Given the description of an element on the screen output the (x, y) to click on. 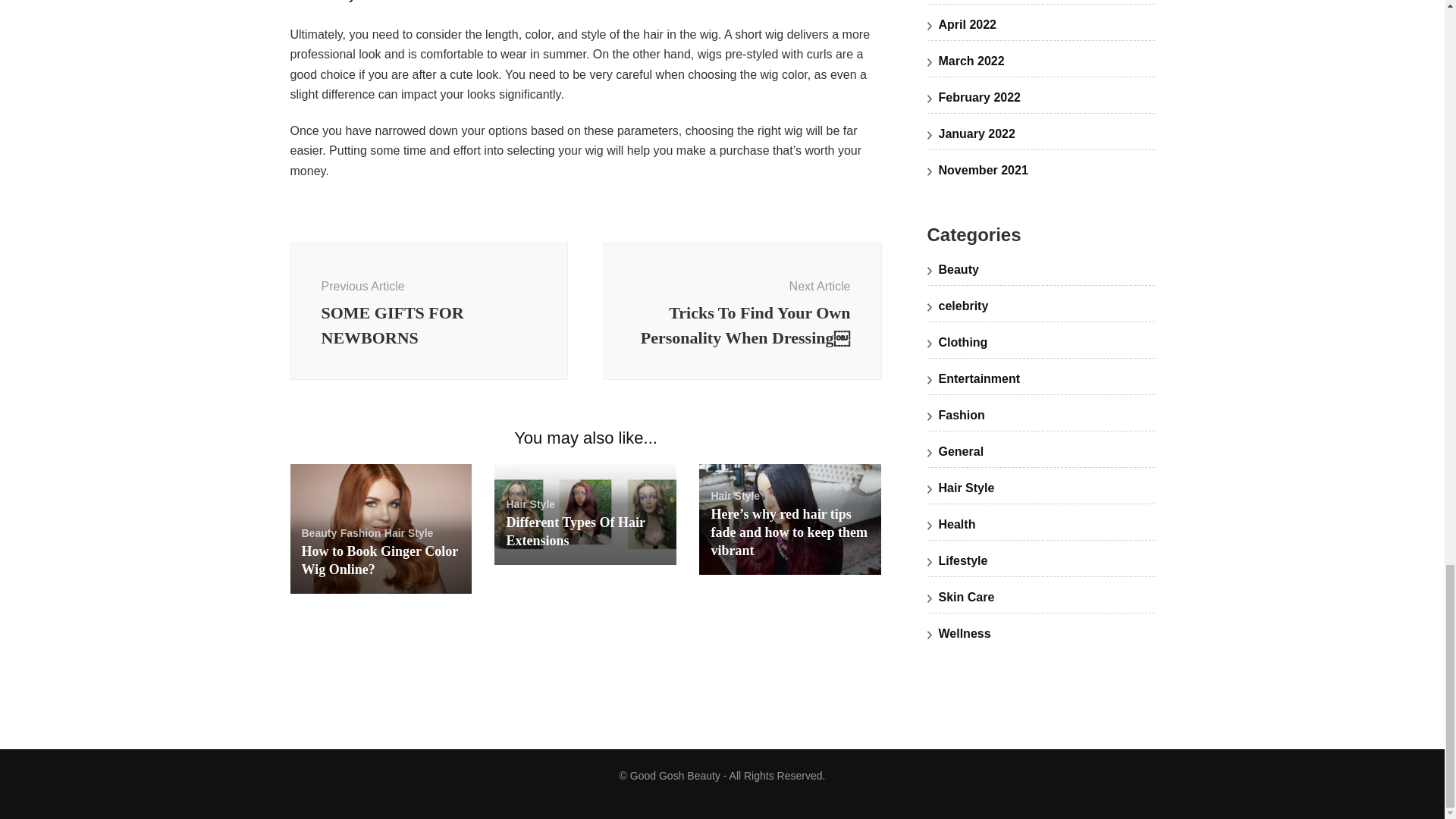
Fashion (360, 532)
Beauty (319, 532)
How to Book Ginger Color Wig Online? (379, 560)
Different Types Of Hair Extensions (575, 531)
Hair Style (408, 532)
Hair Style (428, 311)
Hair Style (529, 503)
